Given the description of an element on the screen output the (x, y) to click on. 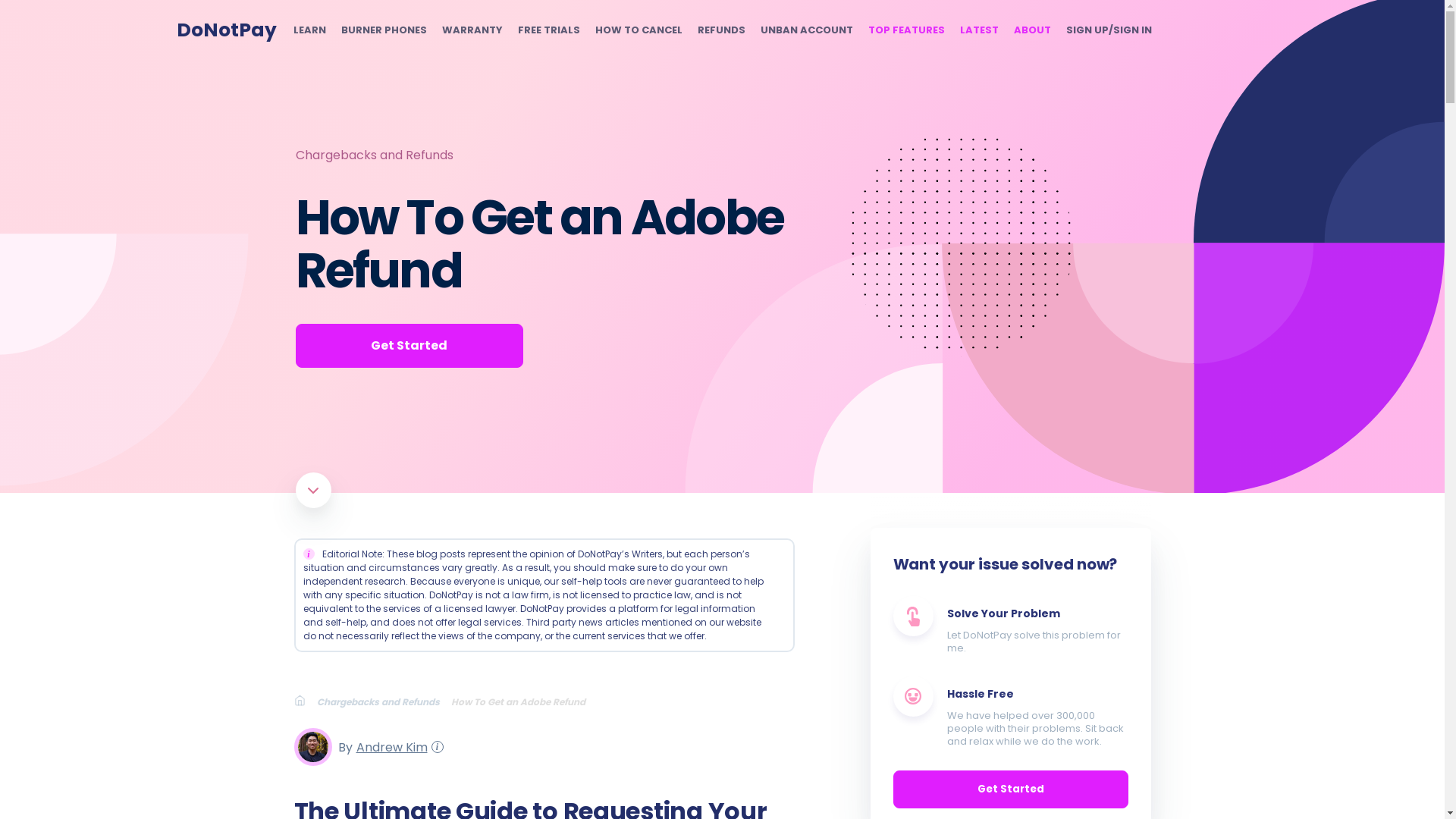
Andrew Kim (389, 746)
Get Started (408, 345)
DoNotPay (226, 29)
HOW TO CANCEL (637, 29)
BURNER PHONES (383, 29)
TOP FEATURES (905, 29)
LEARN (308, 29)
Chargebacks and Refunds (373, 154)
UNBAN ACCOUNT (805, 29)
LATEST (978, 29)
WARRANTY (471, 29)
ABOUT (1031, 29)
REFUNDS (721, 29)
FREE TRIALS (547, 29)
Chargebacks and Refunds (384, 700)
